Given the description of an element on the screen output the (x, y) to click on. 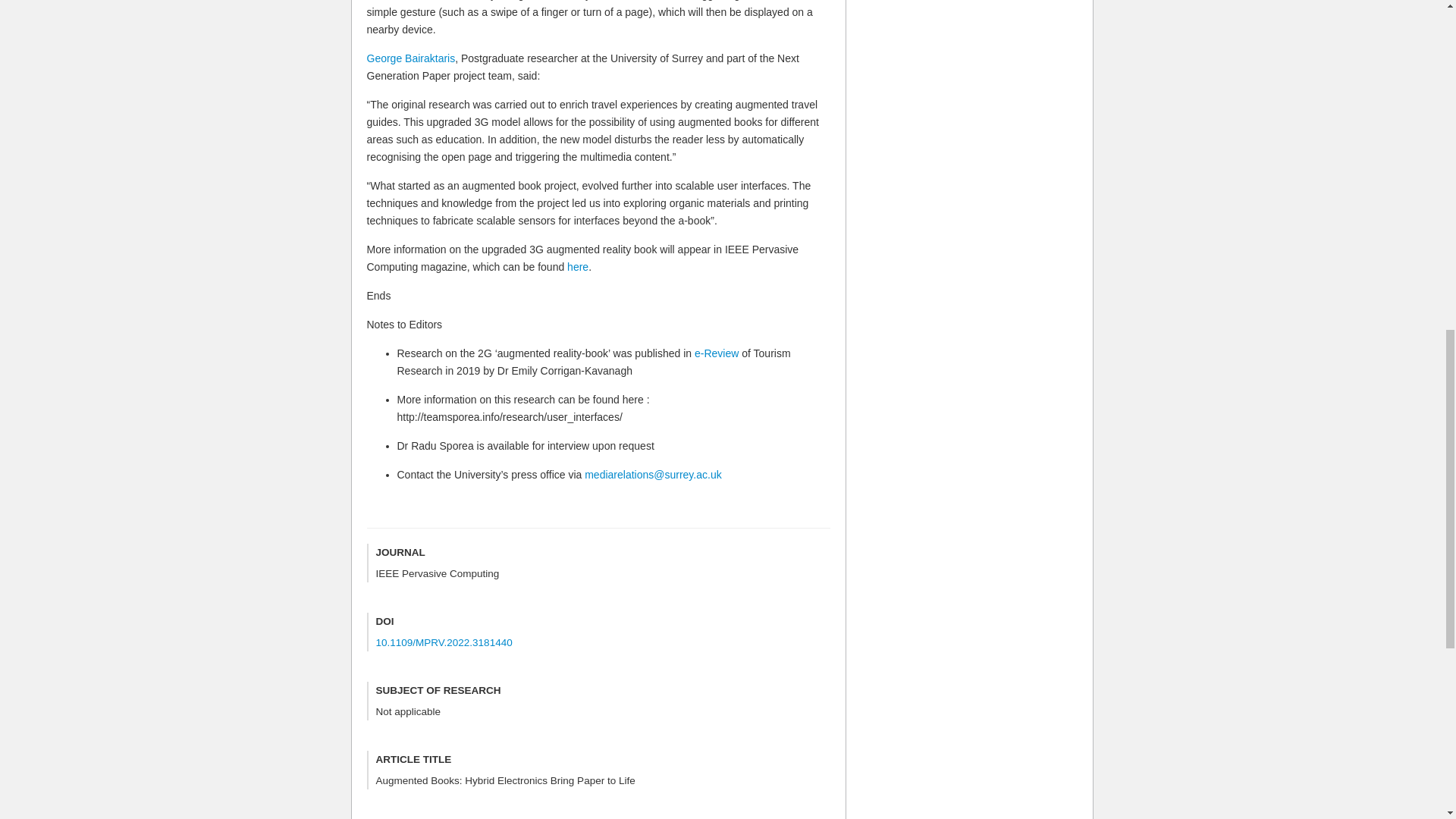
e-Review (716, 353)
here (577, 266)
George Bairaktaris (410, 58)
